Given the description of an element on the screen output the (x, y) to click on. 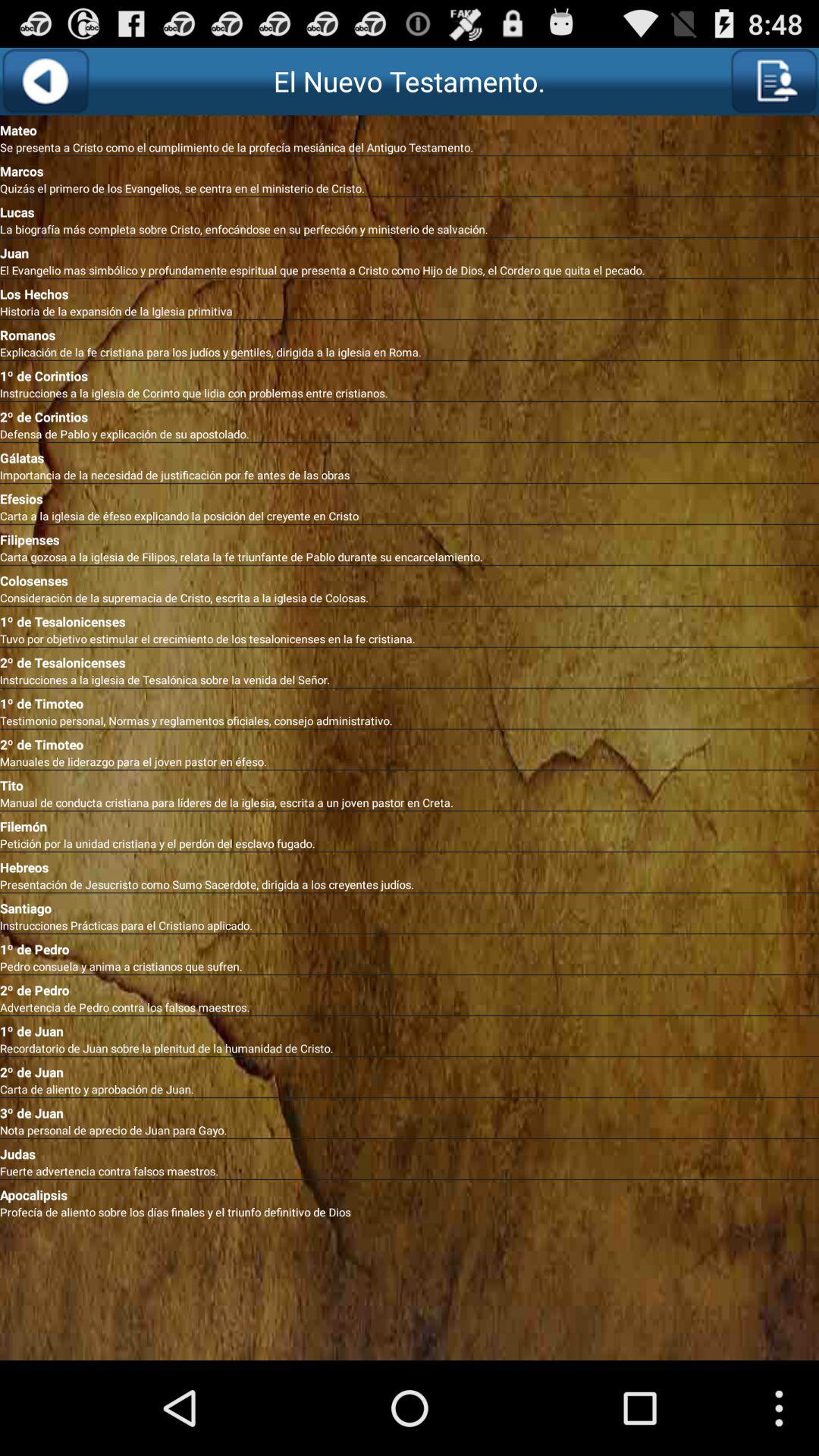
launch app above fuerte advertencia contra (409, 1151)
